Given the description of an element on the screen output the (x, y) to click on. 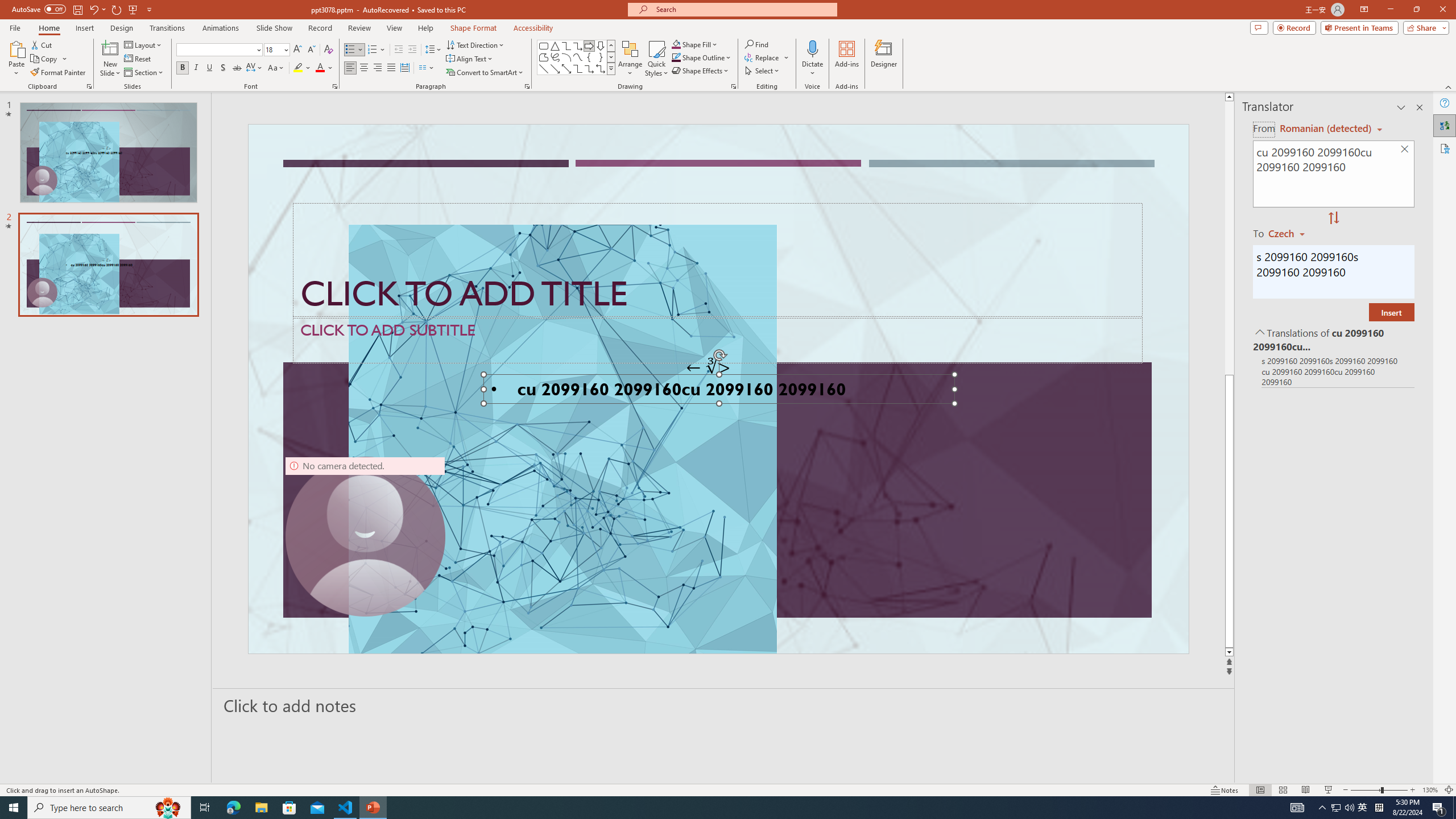
Camera 9, No camera detected. (364, 536)
